Given the description of an element on the screen output the (x, y) to click on. 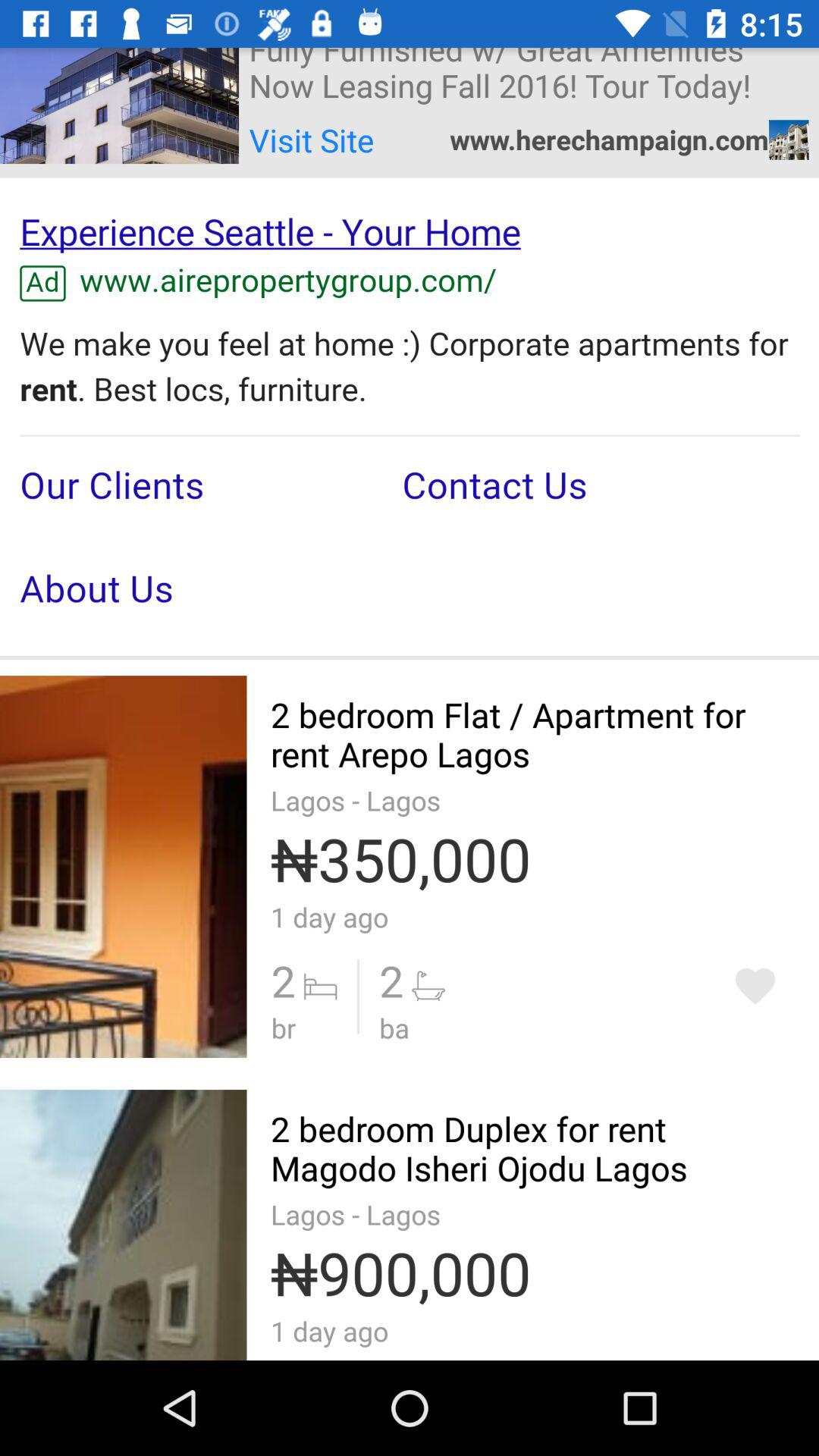
real estate sale rent trovit (755, 986)
